Given the description of an element on the screen output the (x, y) to click on. 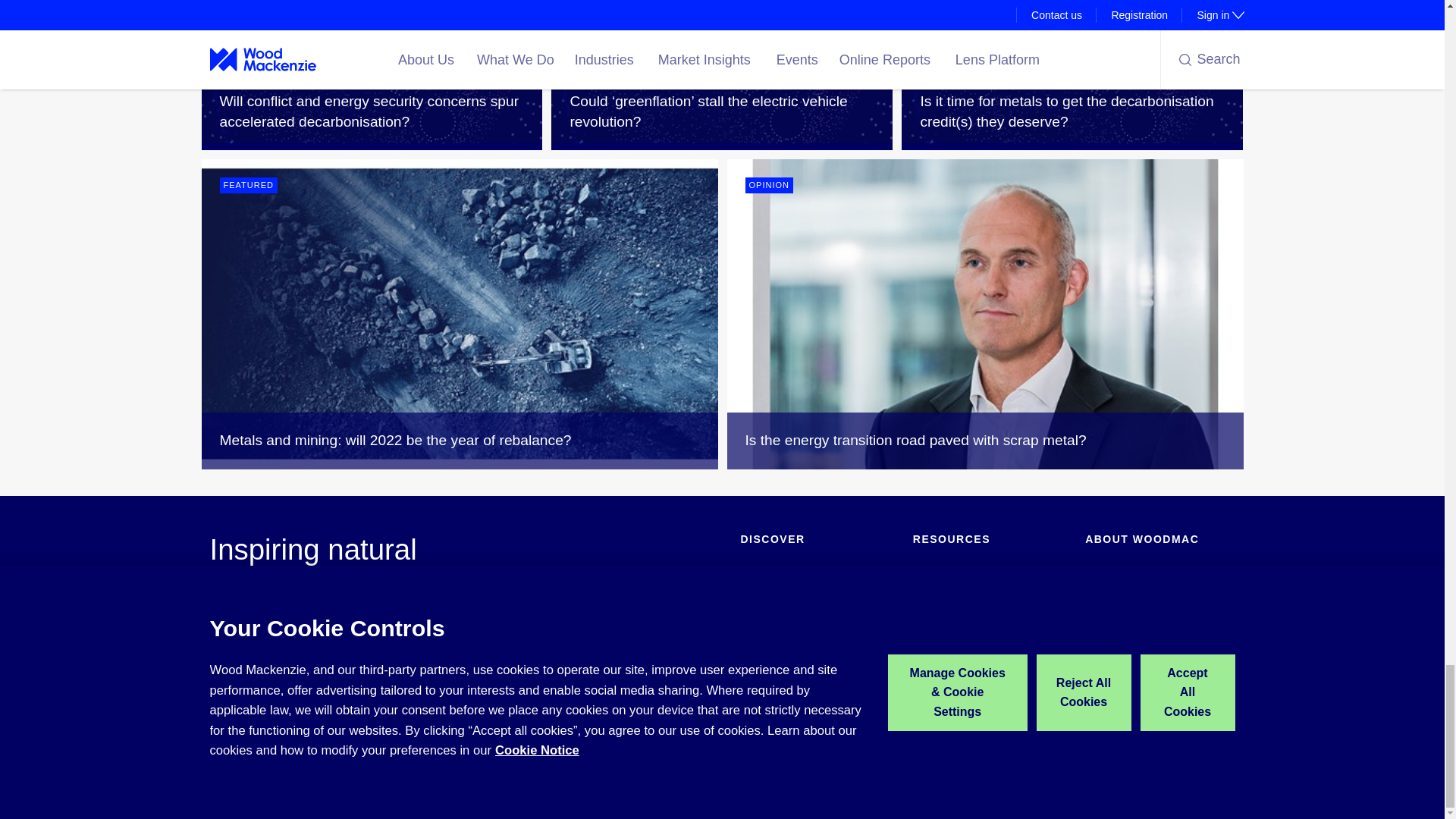
Our locations (1115, 642)
Media centre (1115, 596)
About us (1105, 573)
Reports (758, 664)
Customer support (954, 642)
Horizons (933, 596)
Events (756, 642)
Consulting (764, 619)
Careers (1103, 619)
Energy Transition (780, 596)
Our Experts (940, 619)
